Given the description of an element on the screen output the (x, y) to click on. 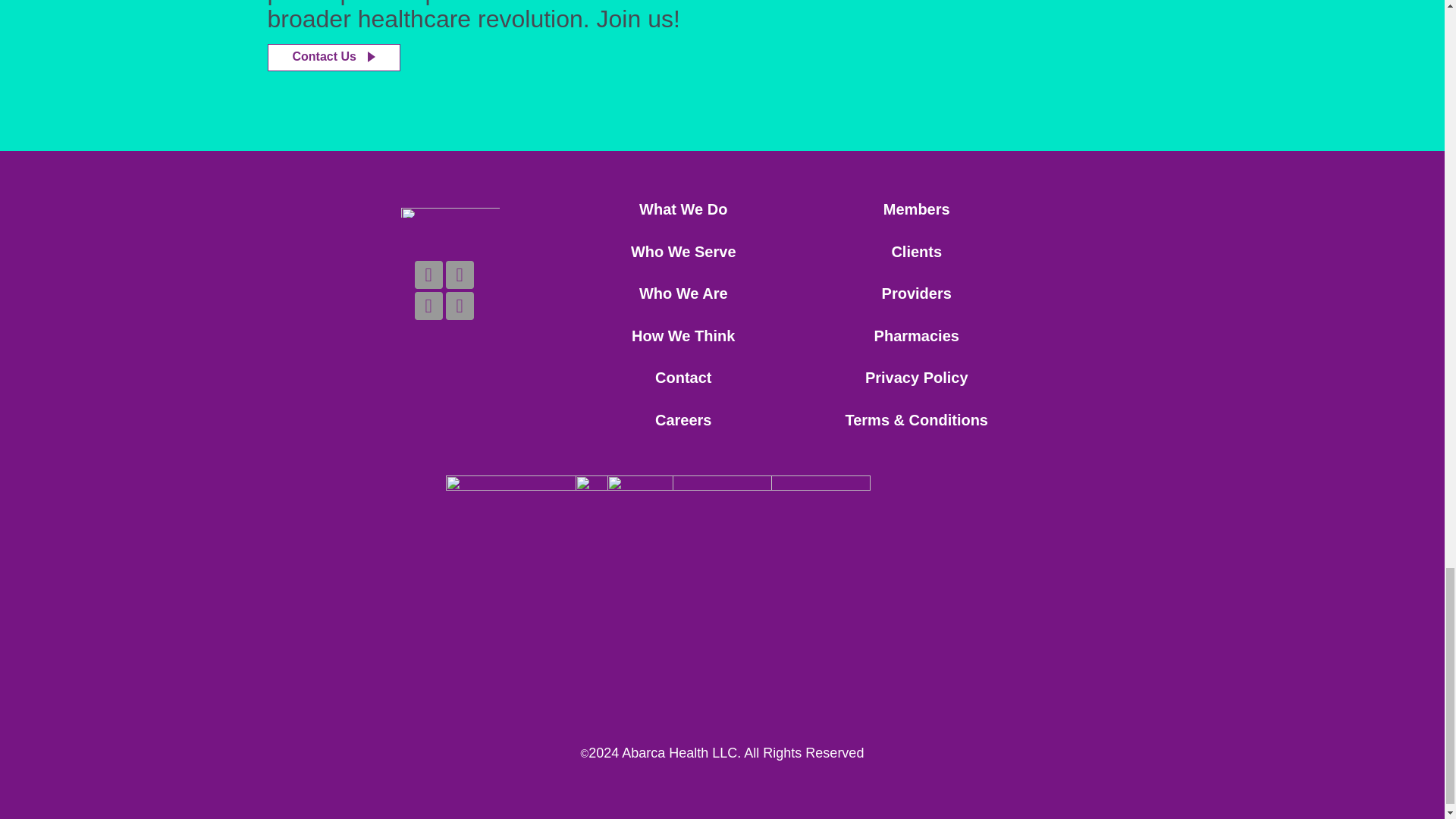
facebook (459, 274)
Members Portal (916, 208)
What We Do (682, 208)
Contact Us (332, 57)
instagram (459, 305)
YouTube (428, 305)
linkedin (428, 274)
Who We Serve (683, 251)
